Given the description of an element on the screen output the (x, y) to click on. 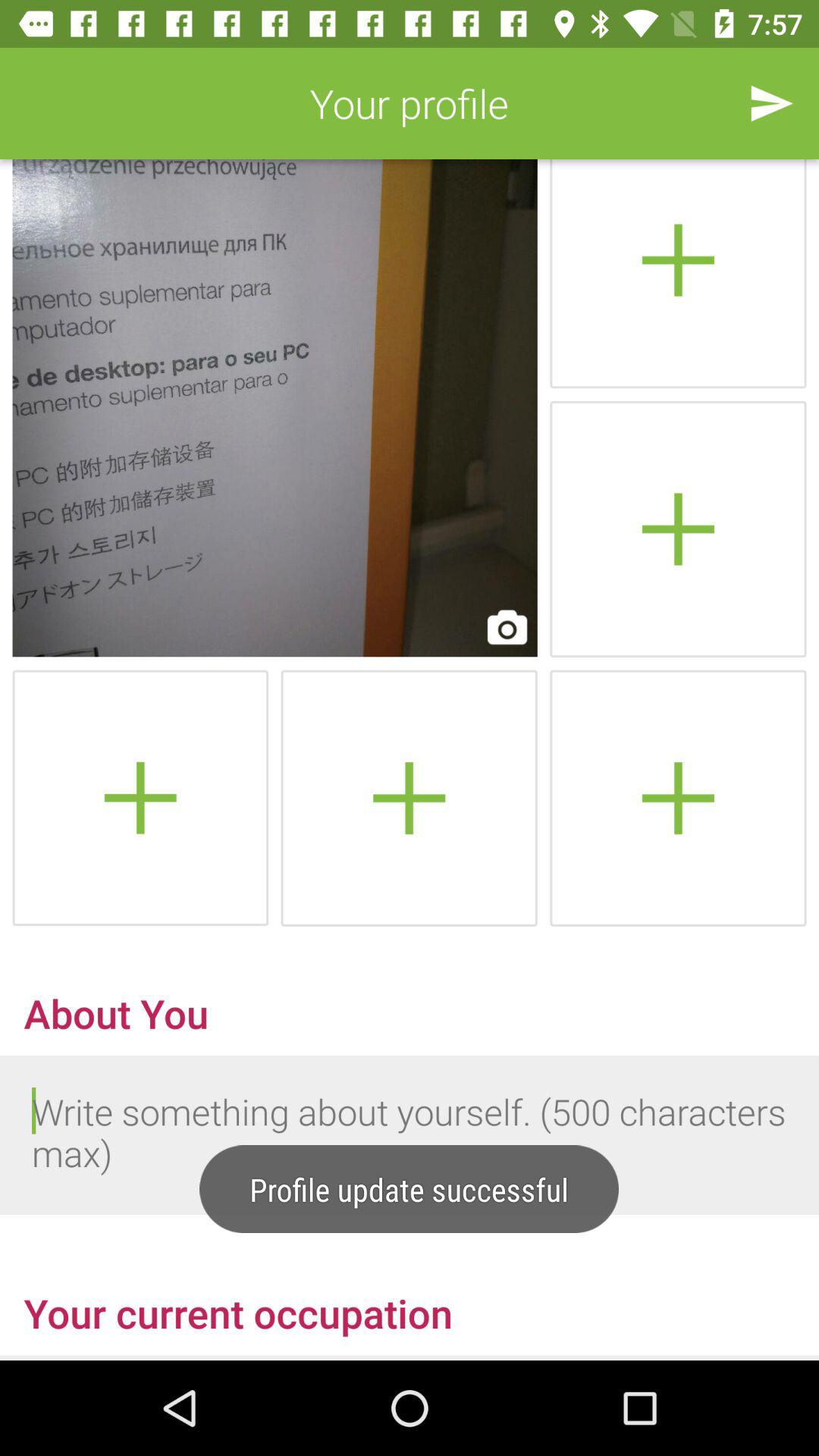
add notes (408, 797)
